Given the description of an element on the screen output the (x, y) to click on. 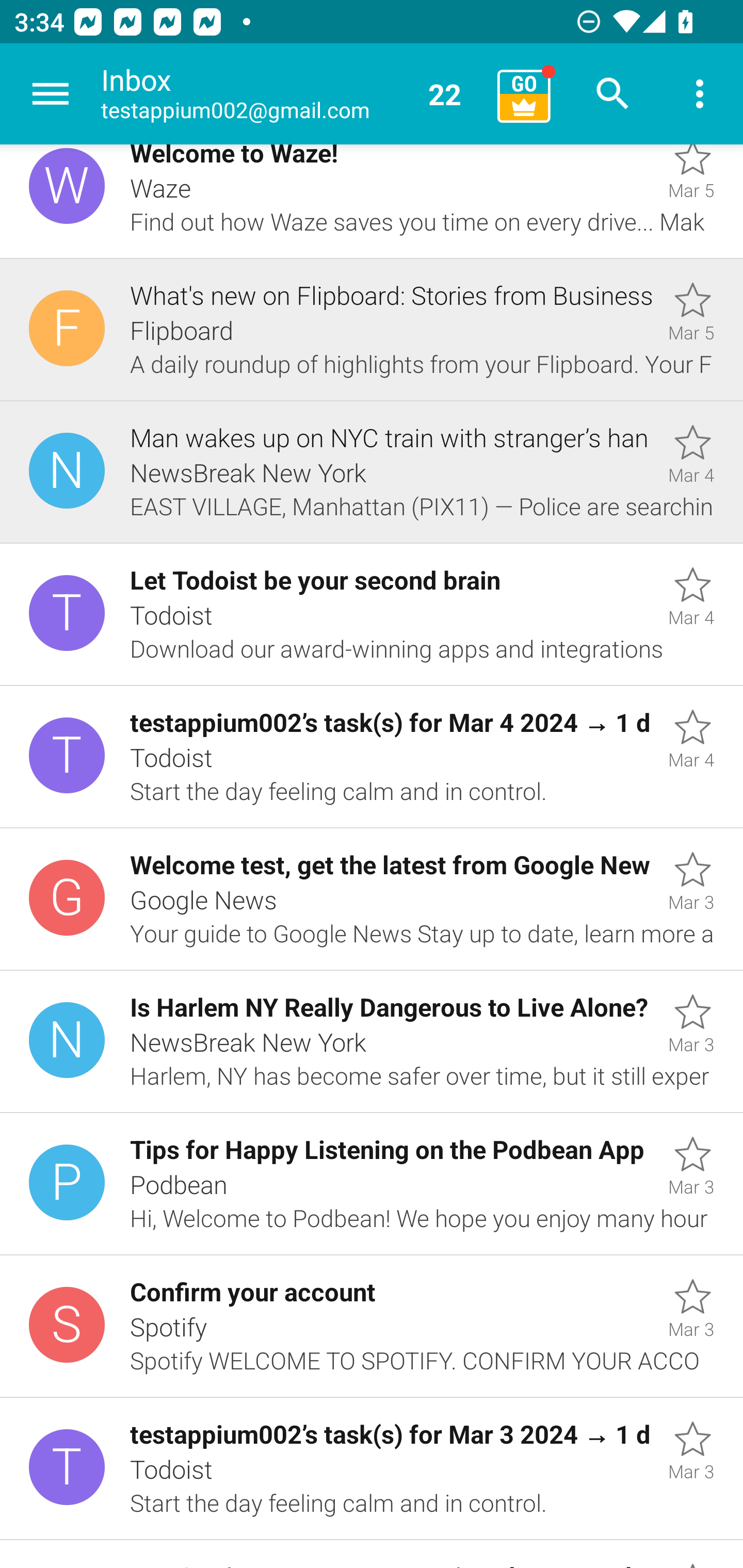
Navigate up (50, 93)
Inbox testappium002@gmail.com 22 (291, 93)
Search (612, 93)
More options (699, 93)
